Given the description of an element on the screen output the (x, y) to click on. 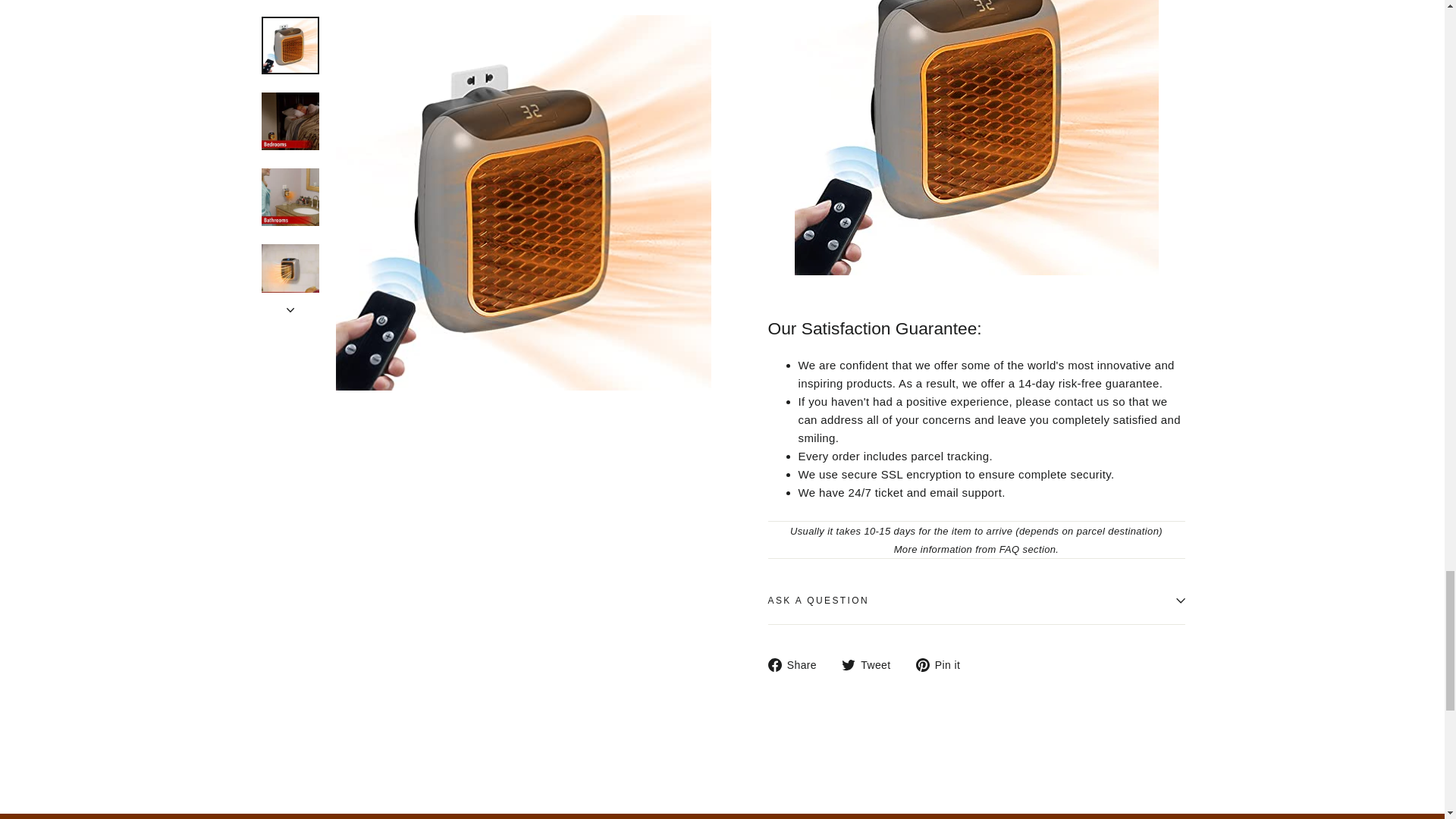
twitter (848, 664)
Share on Facebook (797, 664)
Tweet on Twitter (871, 664)
Pin on Pinterest (943, 664)
